Given the description of an element on the screen output the (x, y) to click on. 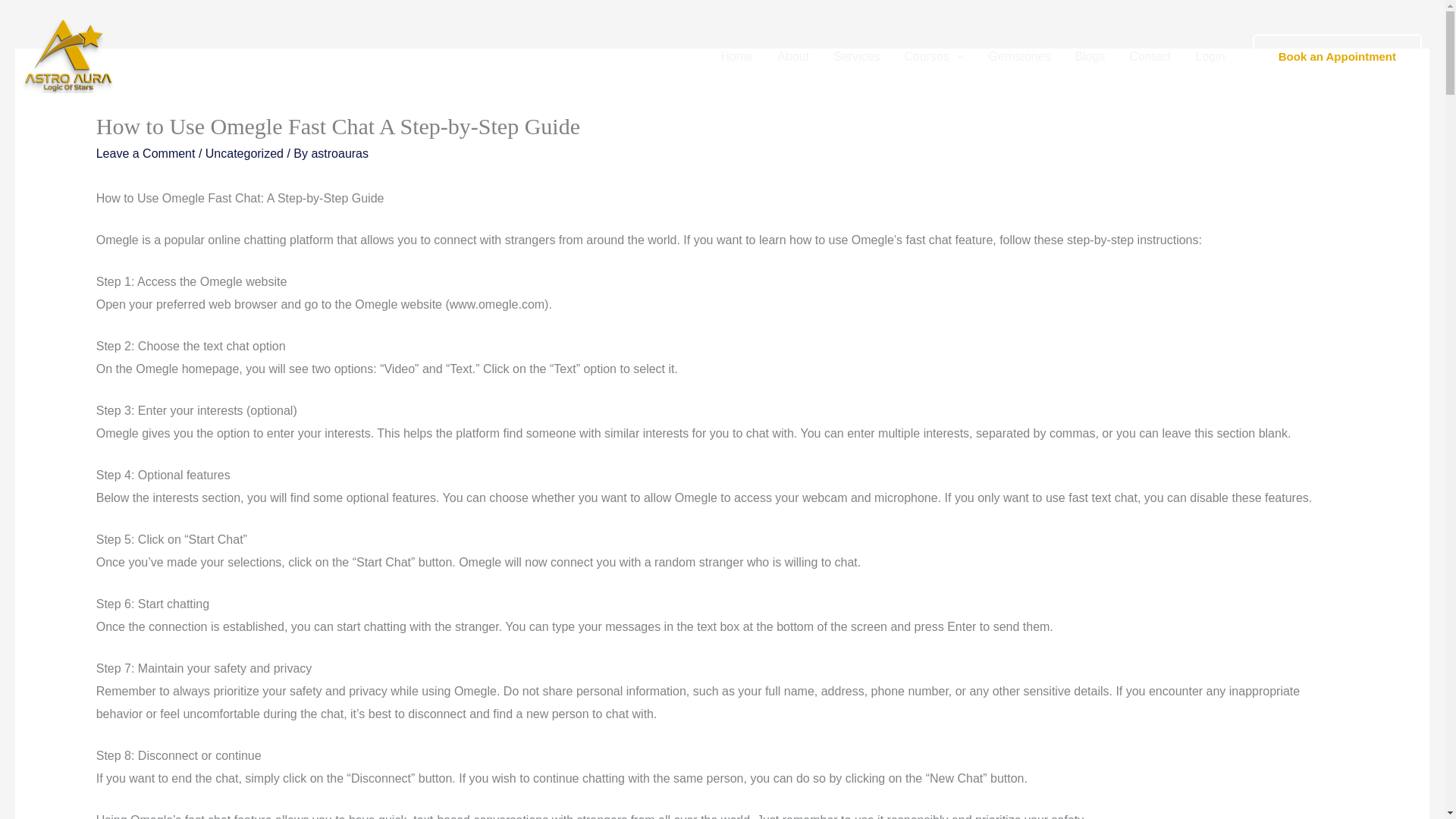
astroauras (339, 153)
Login (1210, 56)
Gemstones (1019, 56)
Services (856, 56)
Contact (1149, 56)
Book an Appointment (1337, 56)
About (793, 56)
Blogs (1089, 56)
Home (737, 56)
Leave a Comment (145, 153)
View all posts by astroauras (339, 153)
Courses (933, 56)
Uncategorized (244, 153)
